Given the description of an element on the screen output the (x, y) to click on. 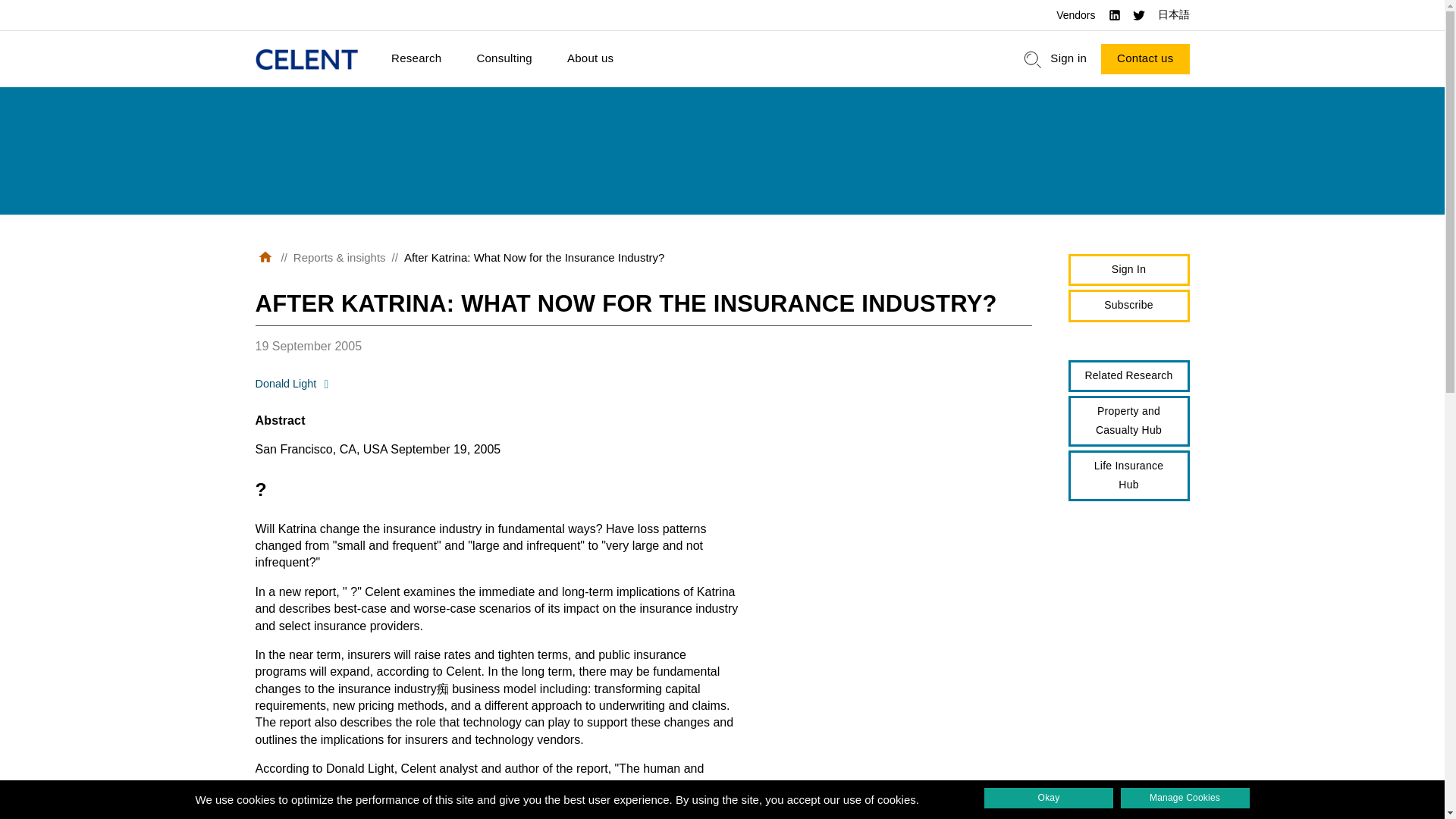
Manage Cookies (1185, 797)
Vendors (1075, 15)
Research (415, 59)
search (1032, 58)
Okay (1048, 797)
Contact us (1144, 59)
Sign in (1068, 59)
Home (306, 59)
Consulting (503, 59)
About us (590, 59)
